Given the description of an element on the screen output the (x, y) to click on. 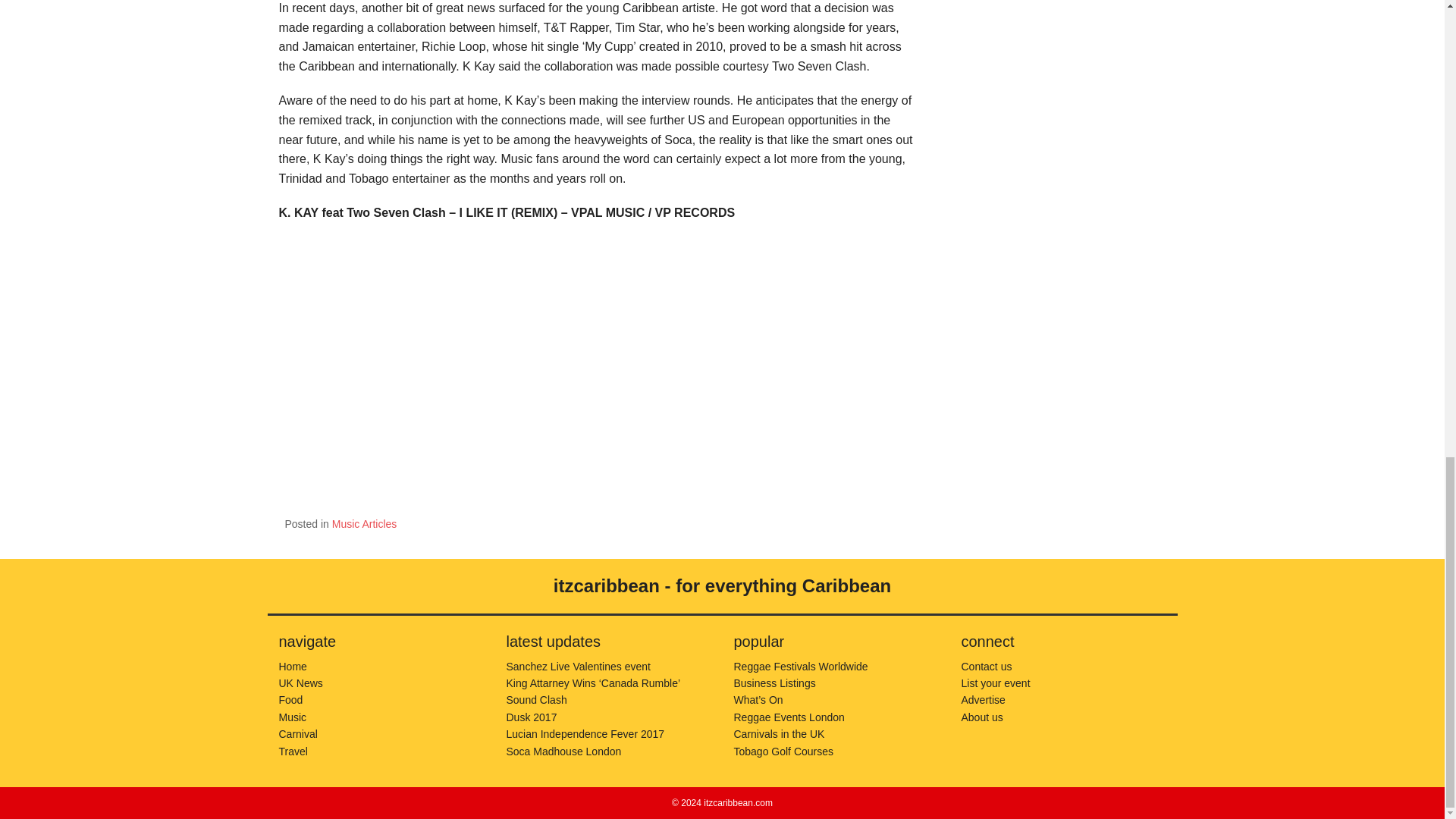
Travel (293, 751)
UK News (301, 683)
Carnival (298, 734)
Food (290, 699)
Music Articles (364, 523)
Music (293, 717)
Home (293, 666)
